Given the description of an element on the screen output the (x, y) to click on. 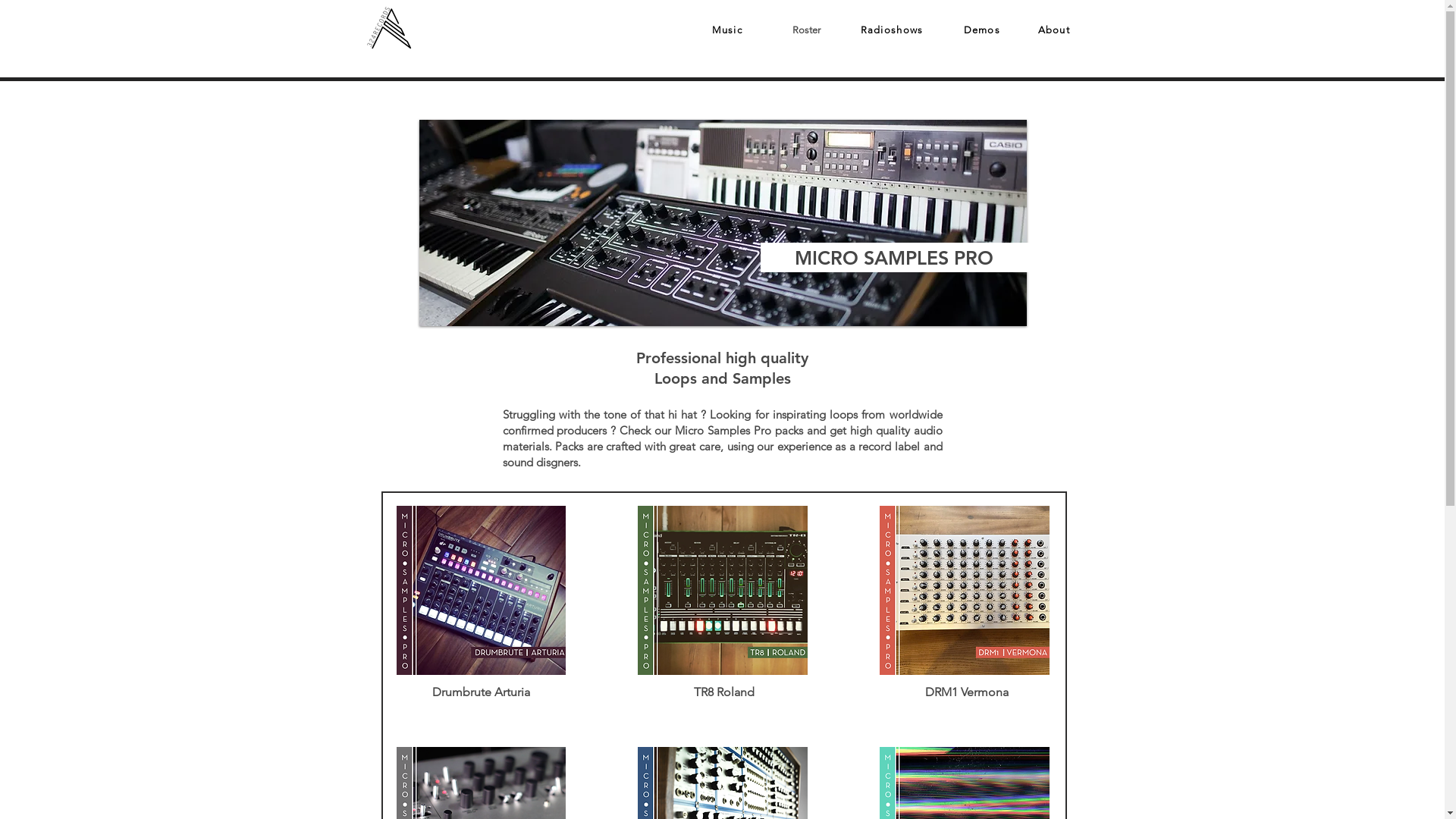
Demos Element type: text (981, 29)
Music Element type: text (726, 29)
Radioshows Element type: text (890, 29)
DRM1 Vermona Element type: text (966, 691)
TR8 Roland Element type: text (723, 691)
Drumbrute Arturia Element type: text (481, 691)
Roster Element type: text (805, 29)
About Element type: text (1053, 29)
